Given the description of an element on the screen output the (x, y) to click on. 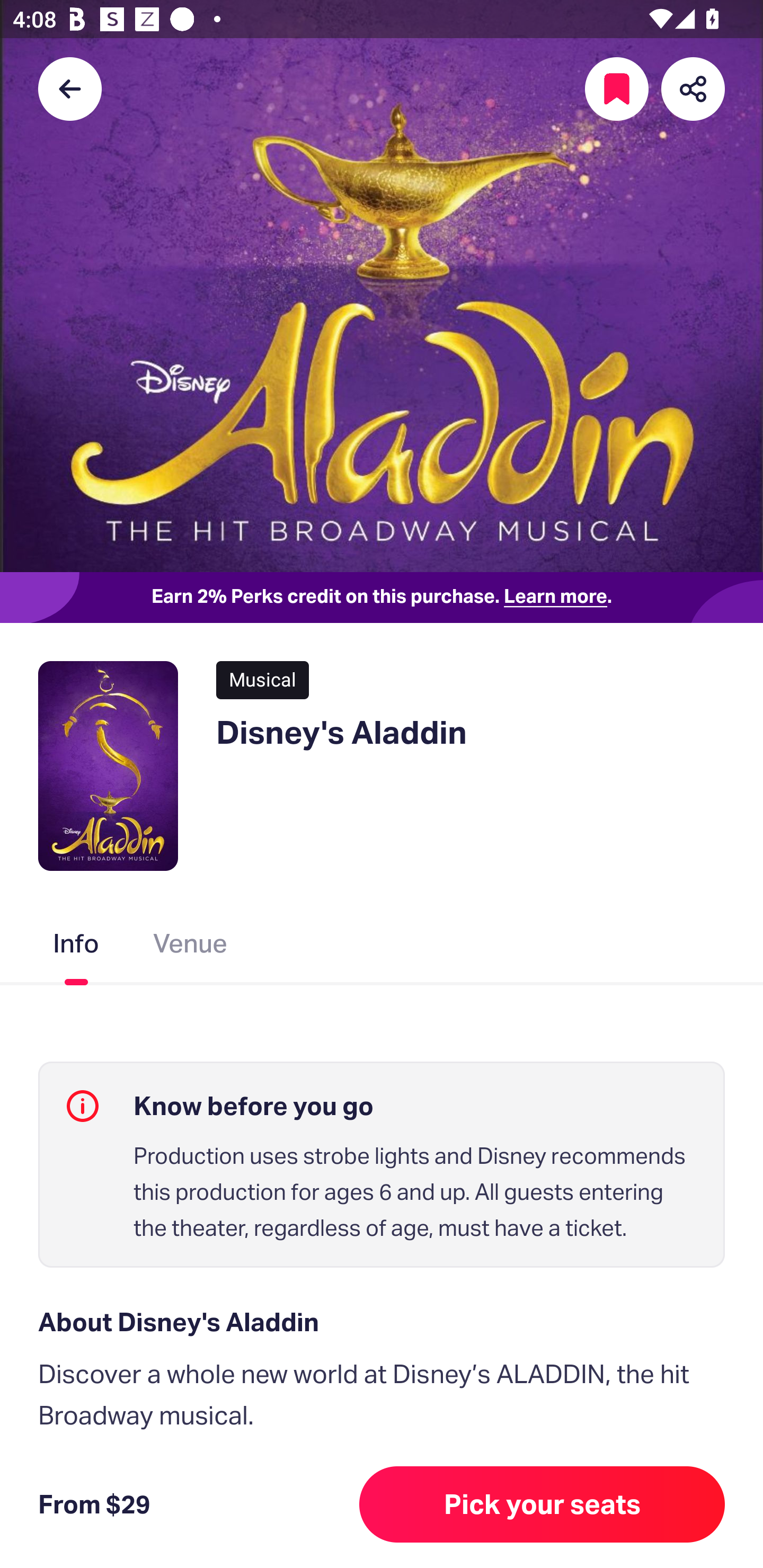
Earn 2% Perks credit on this purchase. Learn more. (381, 597)
Venue (190, 946)
About Disney's Aladdin (381, 1322)
Pick your seats (541, 1504)
